Given the description of an element on the screen output the (x, y) to click on. 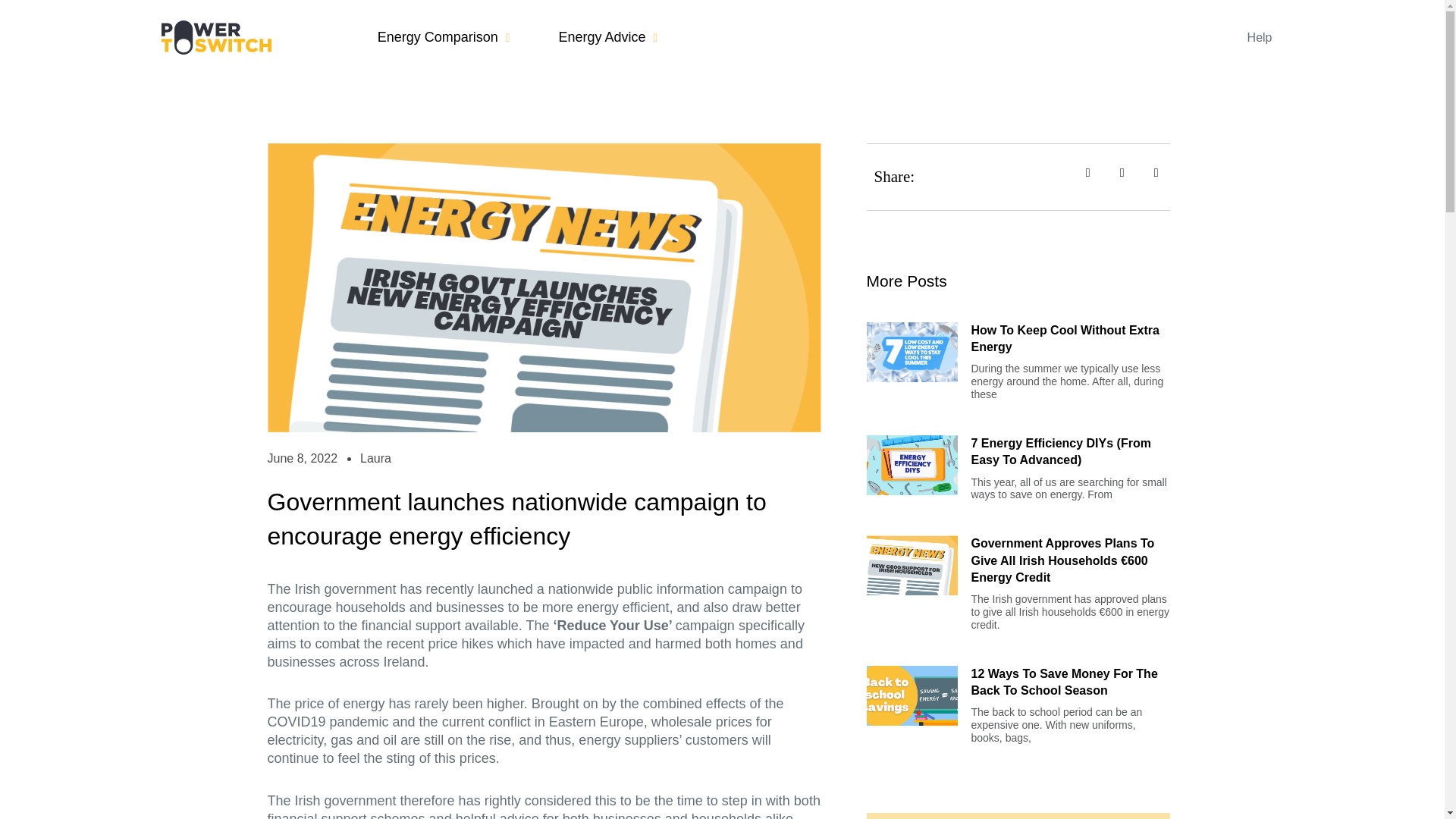
Laura (375, 458)
Energy Advice (607, 37)
Energy Comparison (443, 37)
